Given the description of an element on the screen output the (x, y) to click on. 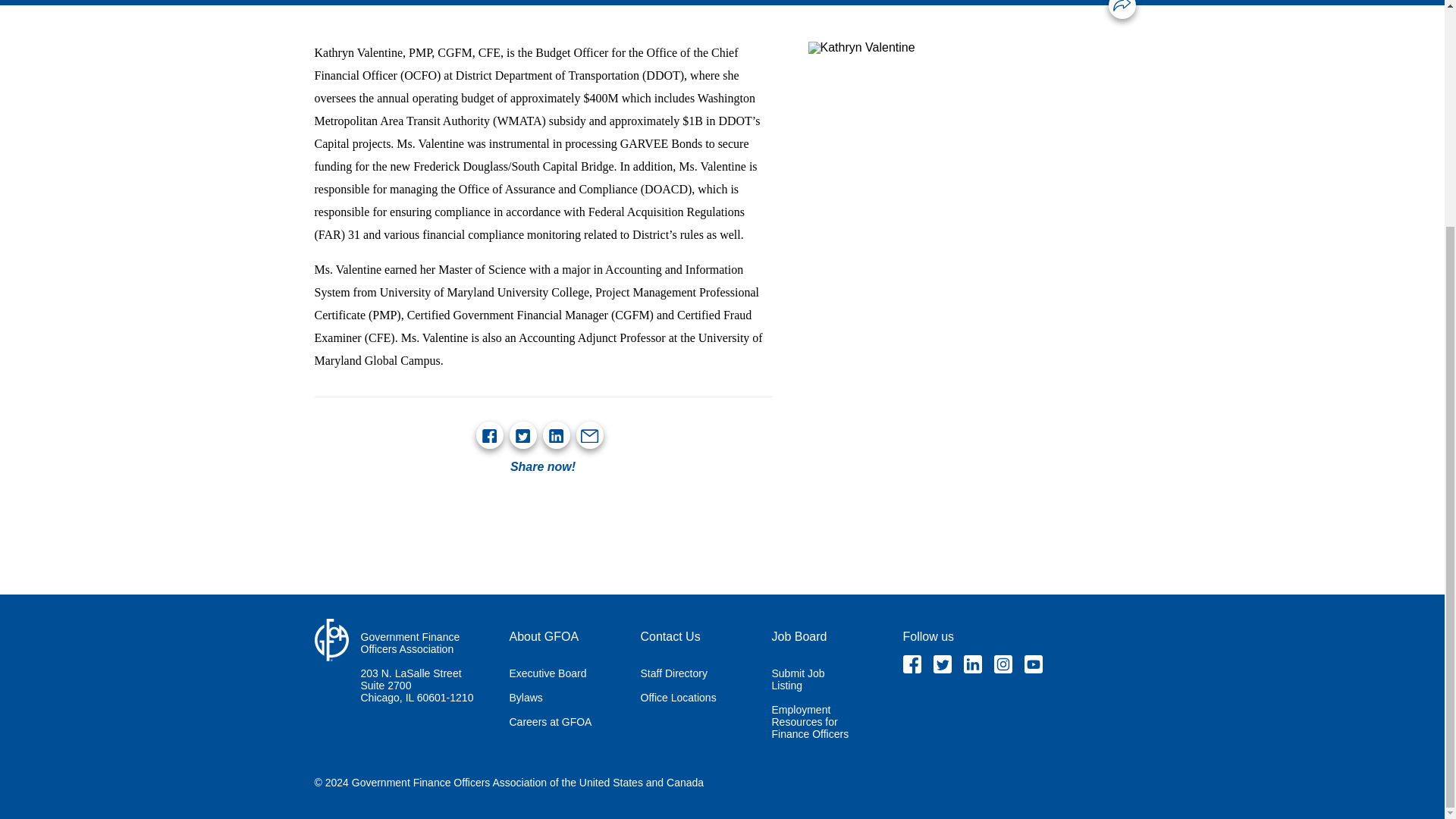
Twitter (522, 436)
LinkedIn (555, 436)
Facebook (911, 664)
Share this page (1122, 5)
YouTube (1032, 664)
Twitter (941, 664)
LinkedIn (971, 664)
Instagram (1001, 664)
Facebook (488, 436)
